Given the description of an element on the screen output the (x, y) to click on. 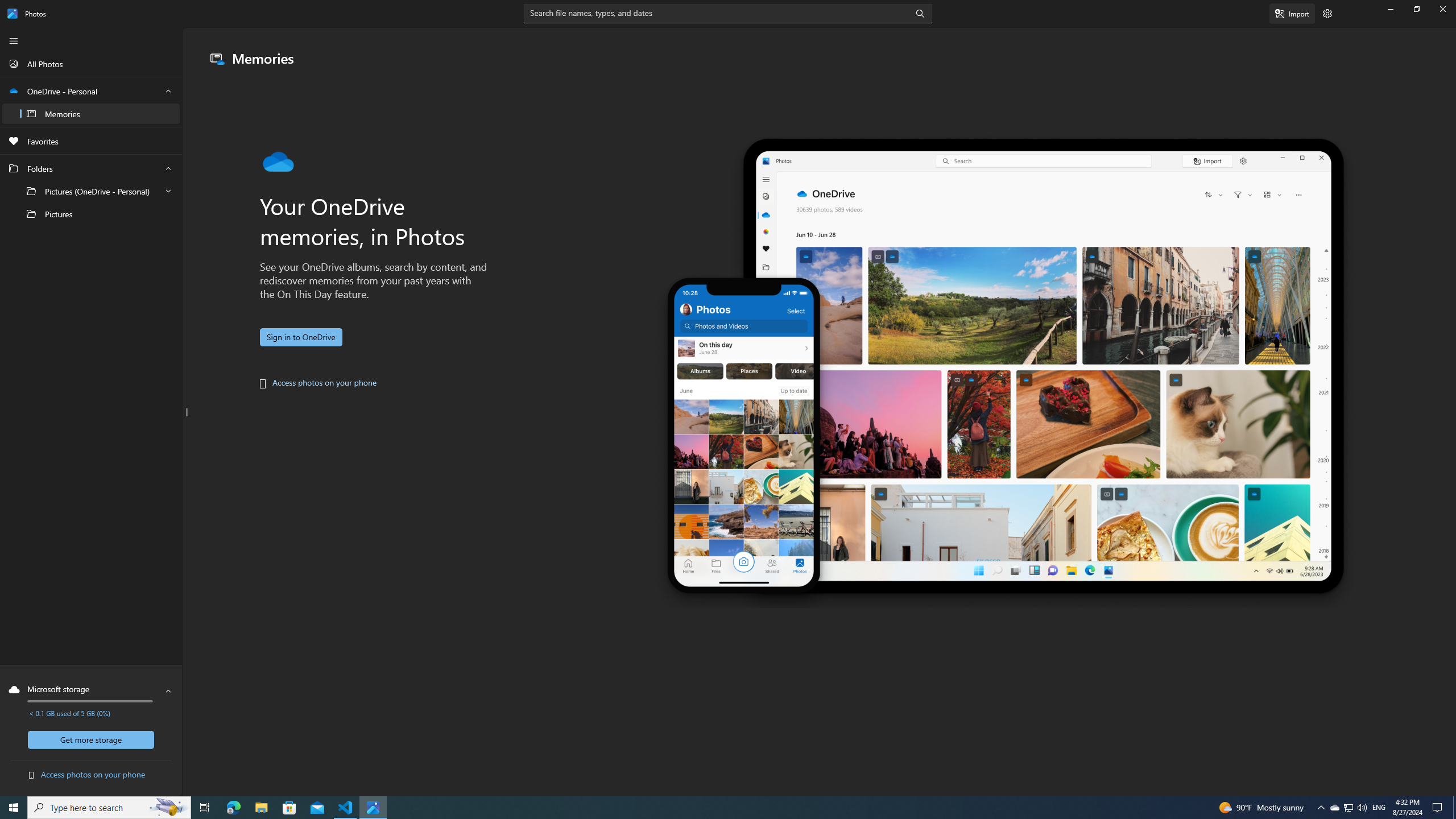
Pictures (90, 213)
Tray Input Indicator - English (United States) (1378, 807)
Pictures (OneDrive - Personal) (90, 190)
Get more storage (1333, 807)
File Explorer (1347, 807)
Minimize Photos (90, 739)
